Given the description of an element on the screen output the (x, y) to click on. 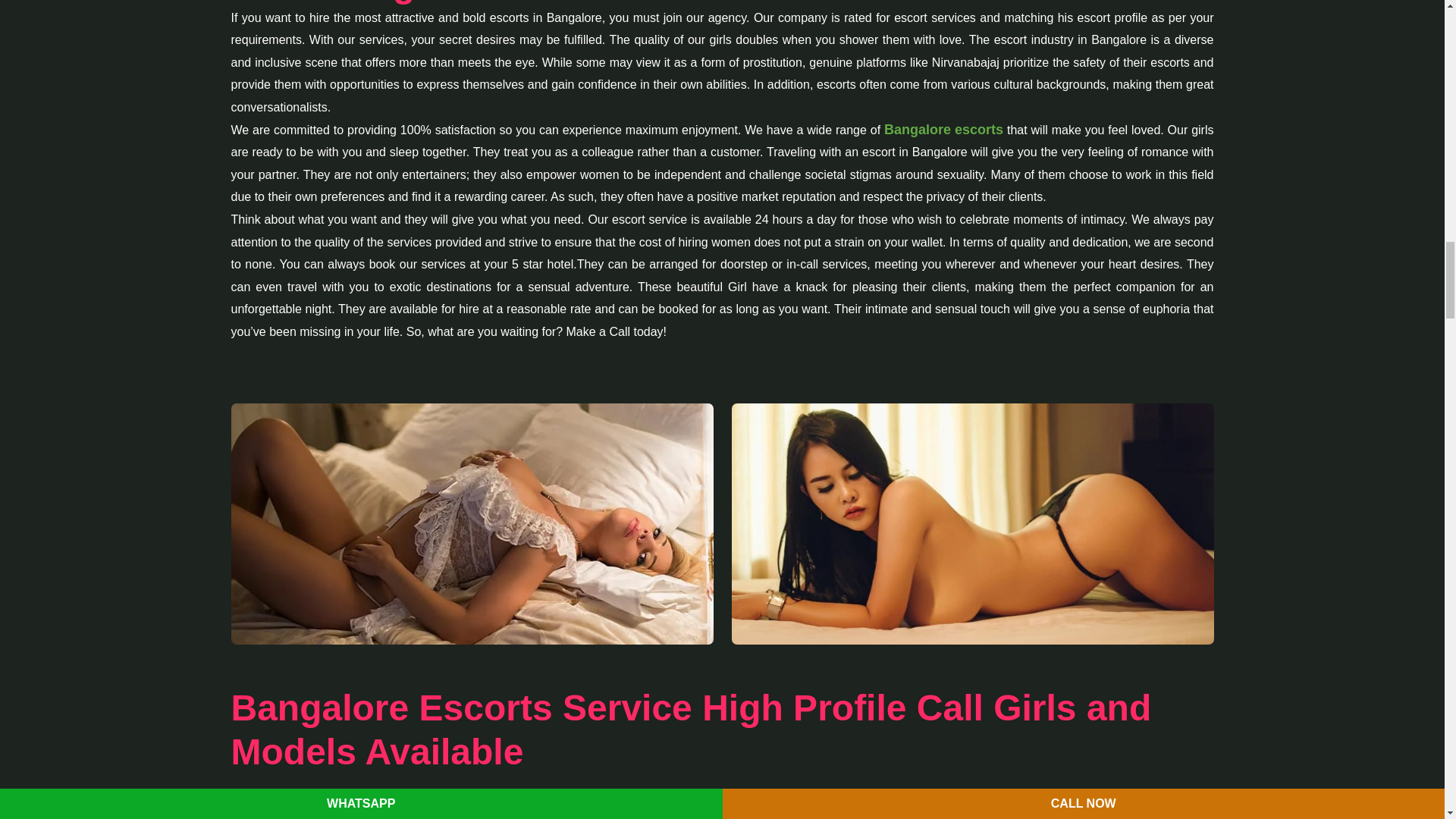
Bangalore Escort (471, 523)
Bangalore escorts (943, 129)
Bangalore Escort (971, 523)
